Given the description of an element on the screen output the (x, y) to click on. 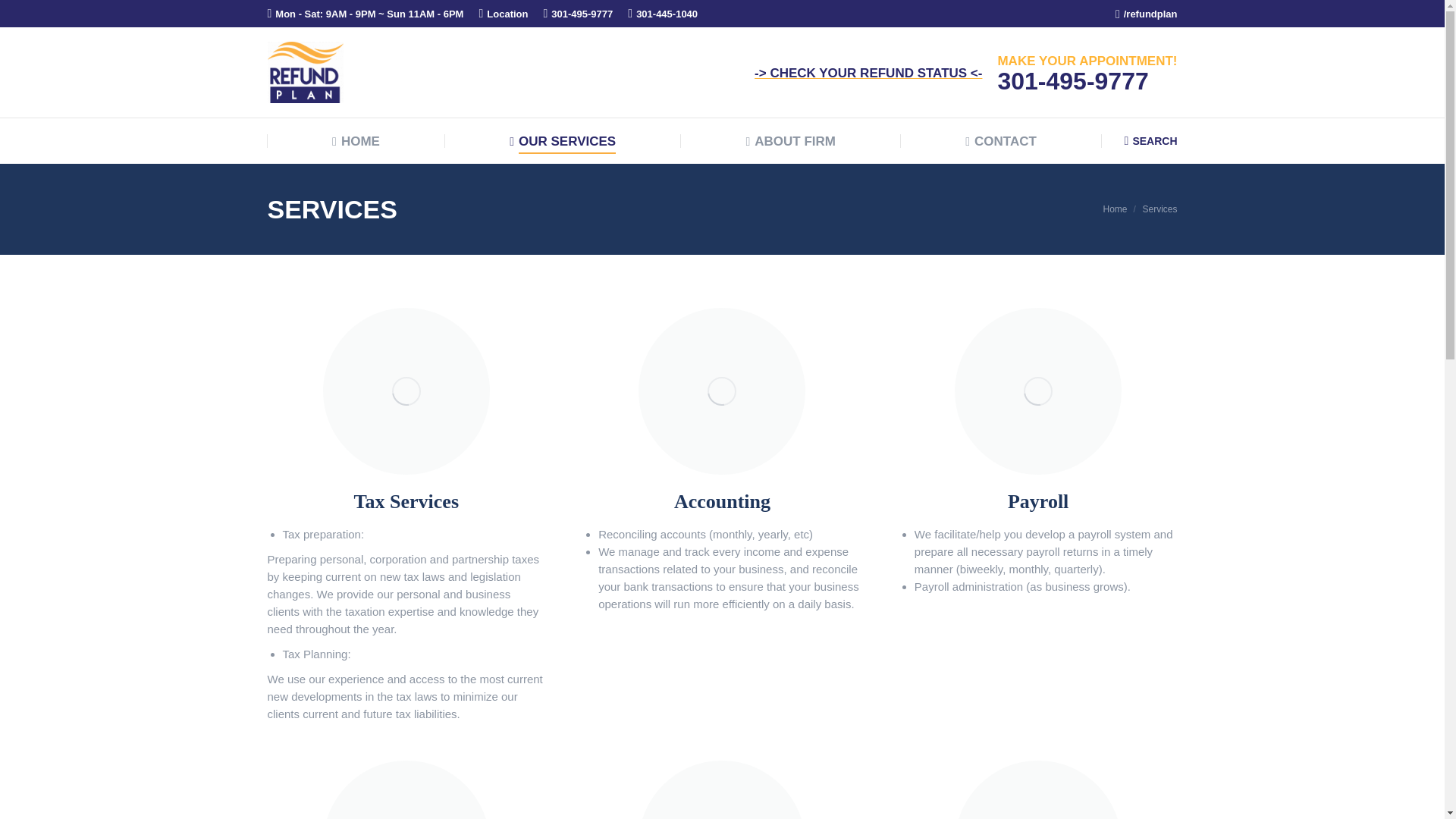
Go! (25, 15)
301-445-1040 (662, 12)
Payroll (1037, 509)
CONTACT (1000, 141)
OUR SERVICES (562, 141)
Accounting (722, 509)
SEARCH (1150, 140)
Tax Services (405, 509)
ABOUT FIRM (790, 141)
Location (506, 12)
301-495-9777 (577, 12)
HOME (355, 141)
Home (1114, 208)
